Given the description of an element on the screen output the (x, y) to click on. 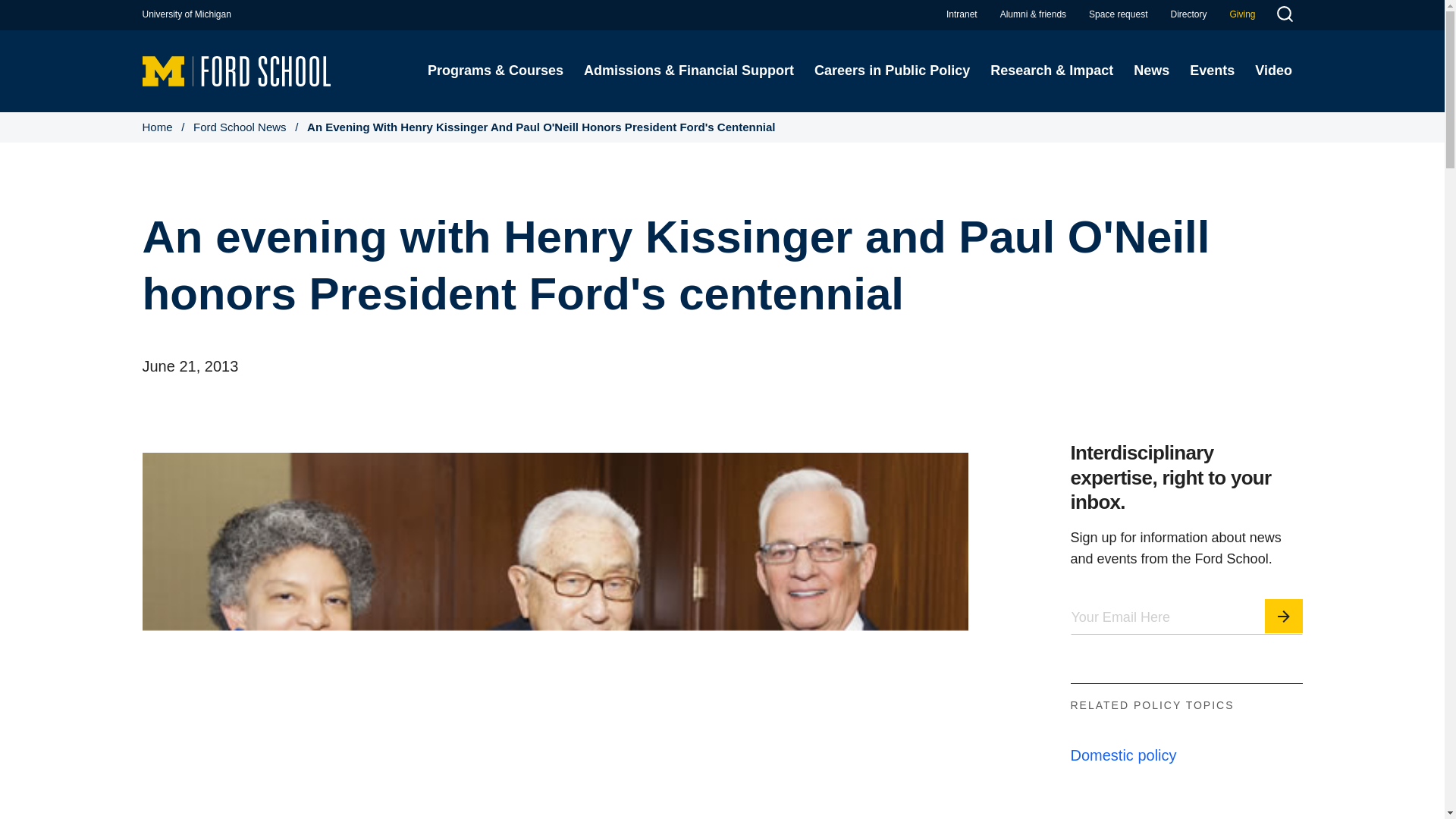
Give to the Ford School (1241, 14)
Space request (1118, 14)
Home (236, 69)
Directory (1188, 14)
Ford School faculty, staff, and student contacts (1188, 14)
Subscribe (1284, 615)
A connected community to each other, and to the world (1032, 14)
Giving (1241, 14)
University of Michigan (186, 14)
Ford School academic program and course information (494, 71)
Search Toggle (1283, 15)
Learn more about our facilities and how to reserve them (1118, 14)
Intranet (961, 14)
